Given the description of an element on the screen output the (x, y) to click on. 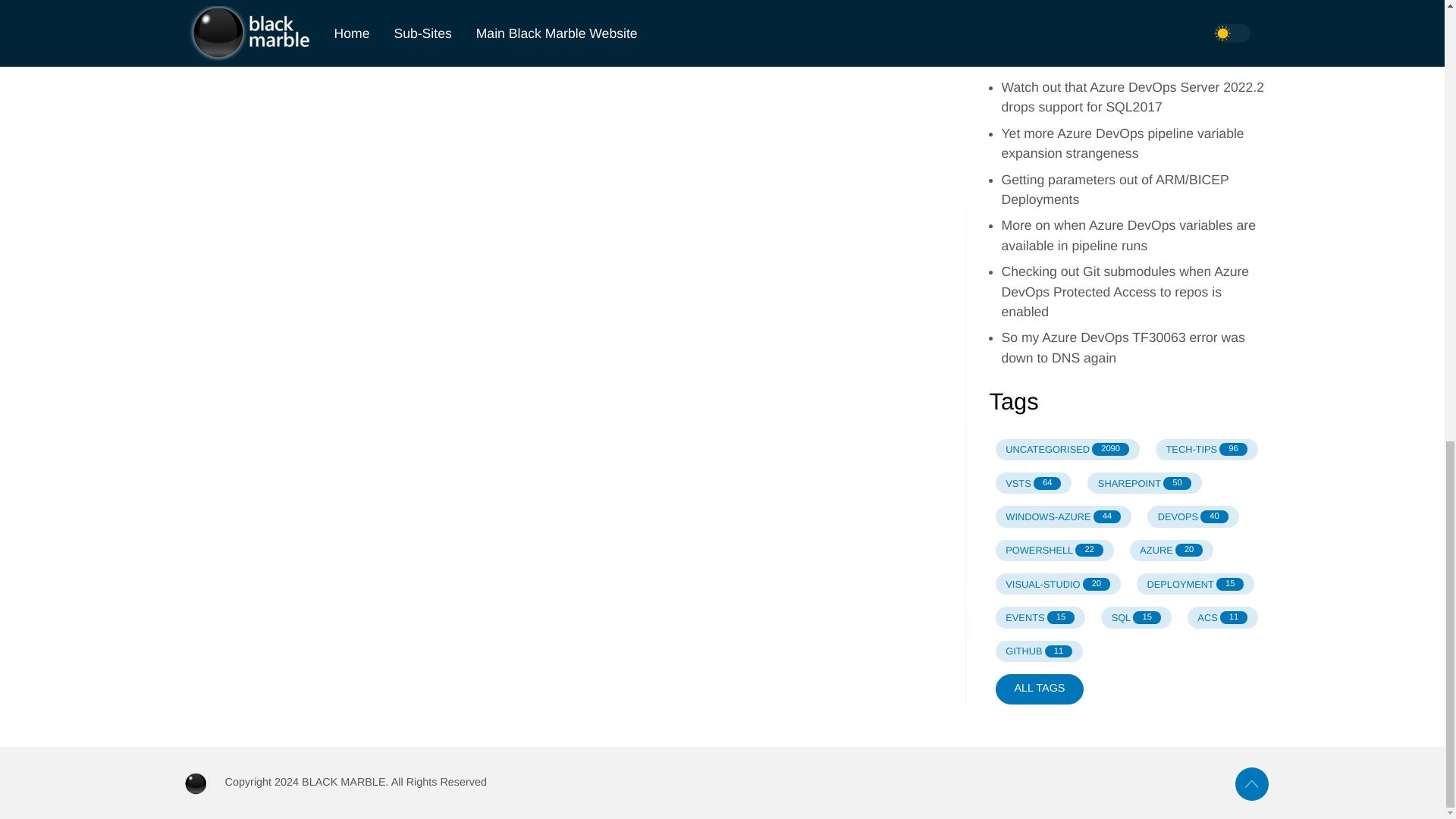
So my Azure DevOps TF30063 error was down to DNS again (1066, 449)
